Given the description of an element on the screen output the (x, y) to click on. 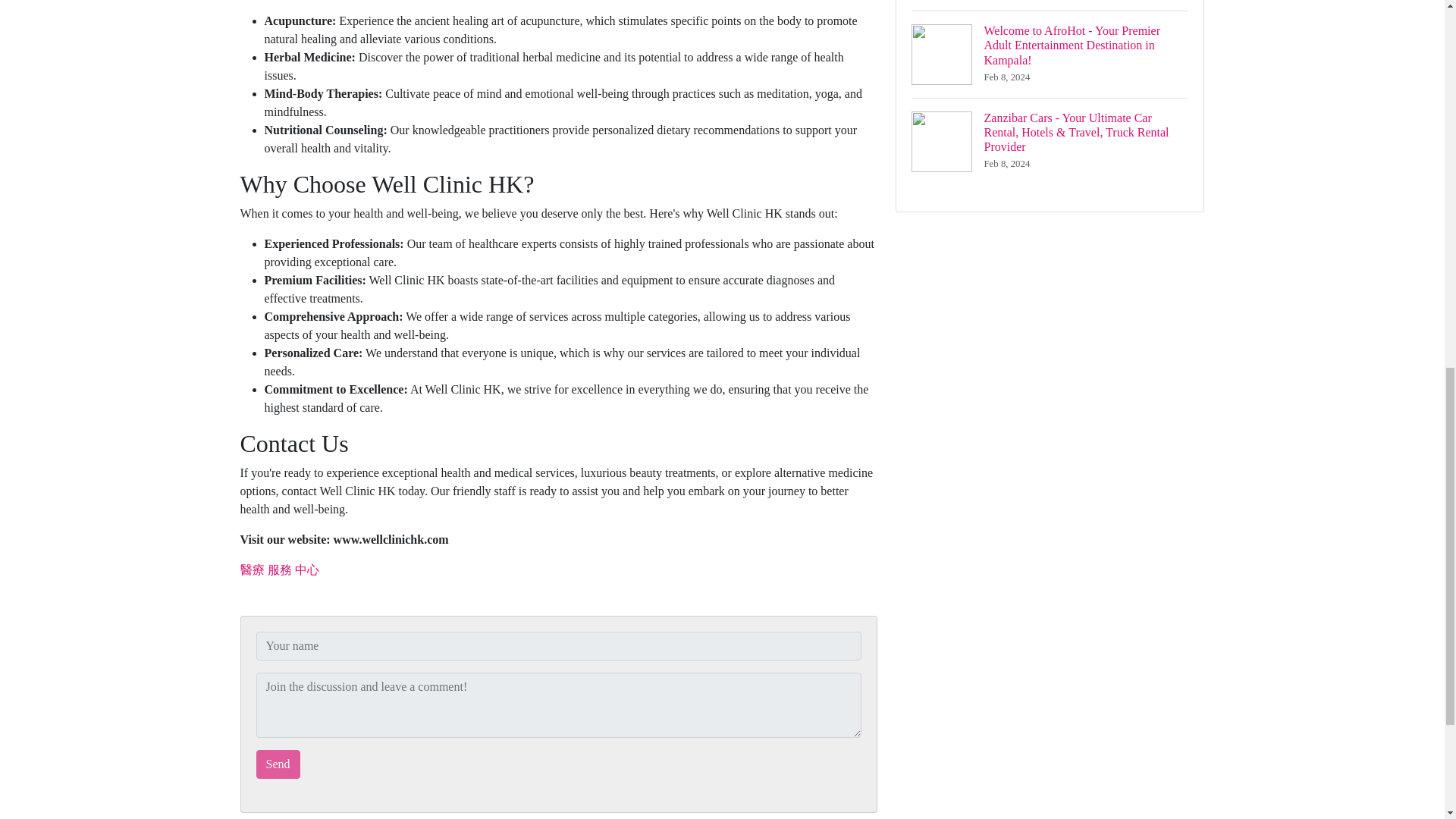
Send (277, 764)
Send (277, 764)
